Given the description of an element on the screen output the (x, y) to click on. 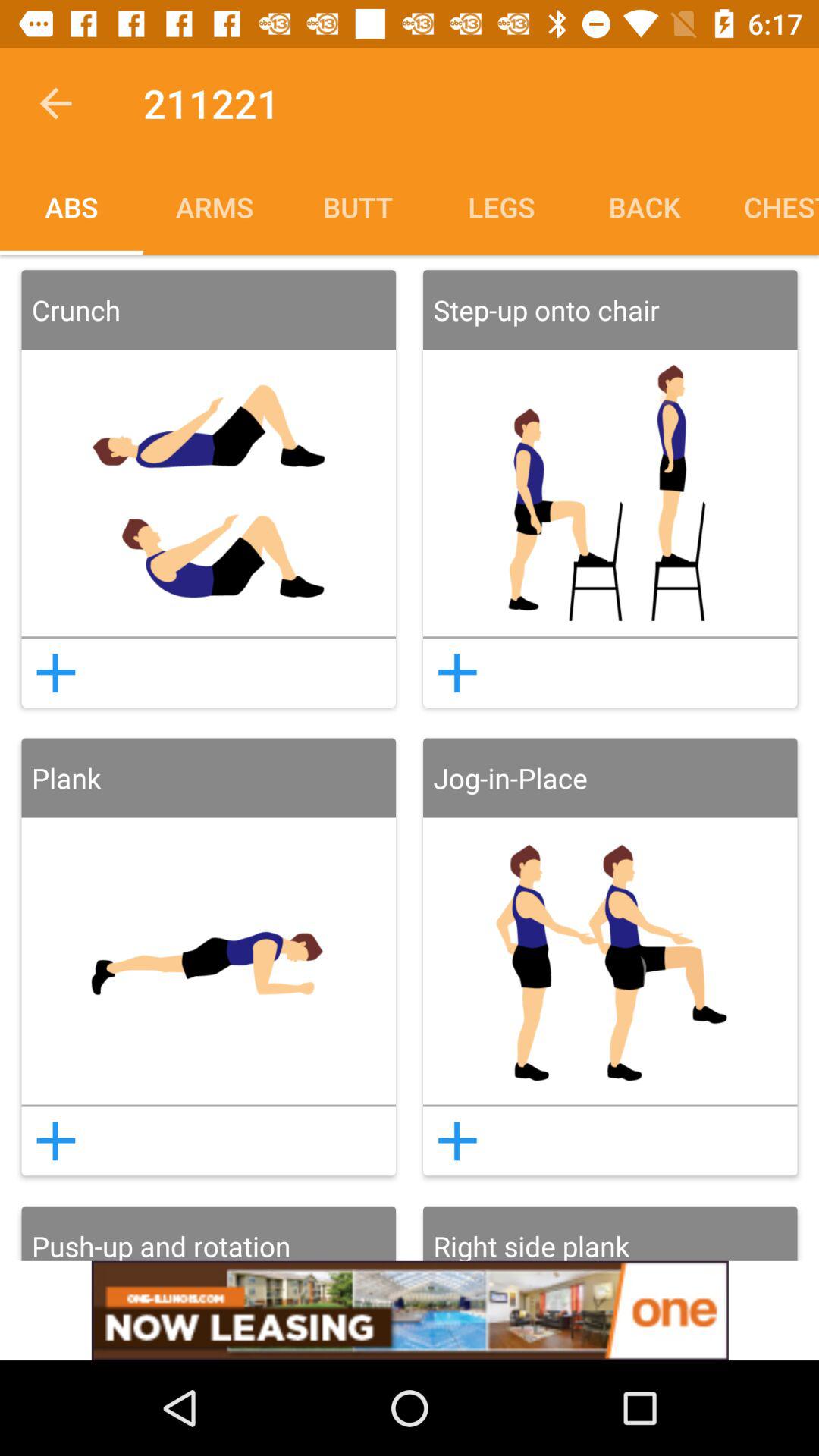
add button (55, 672)
